Given the description of an element on the screen output the (x, y) to click on. 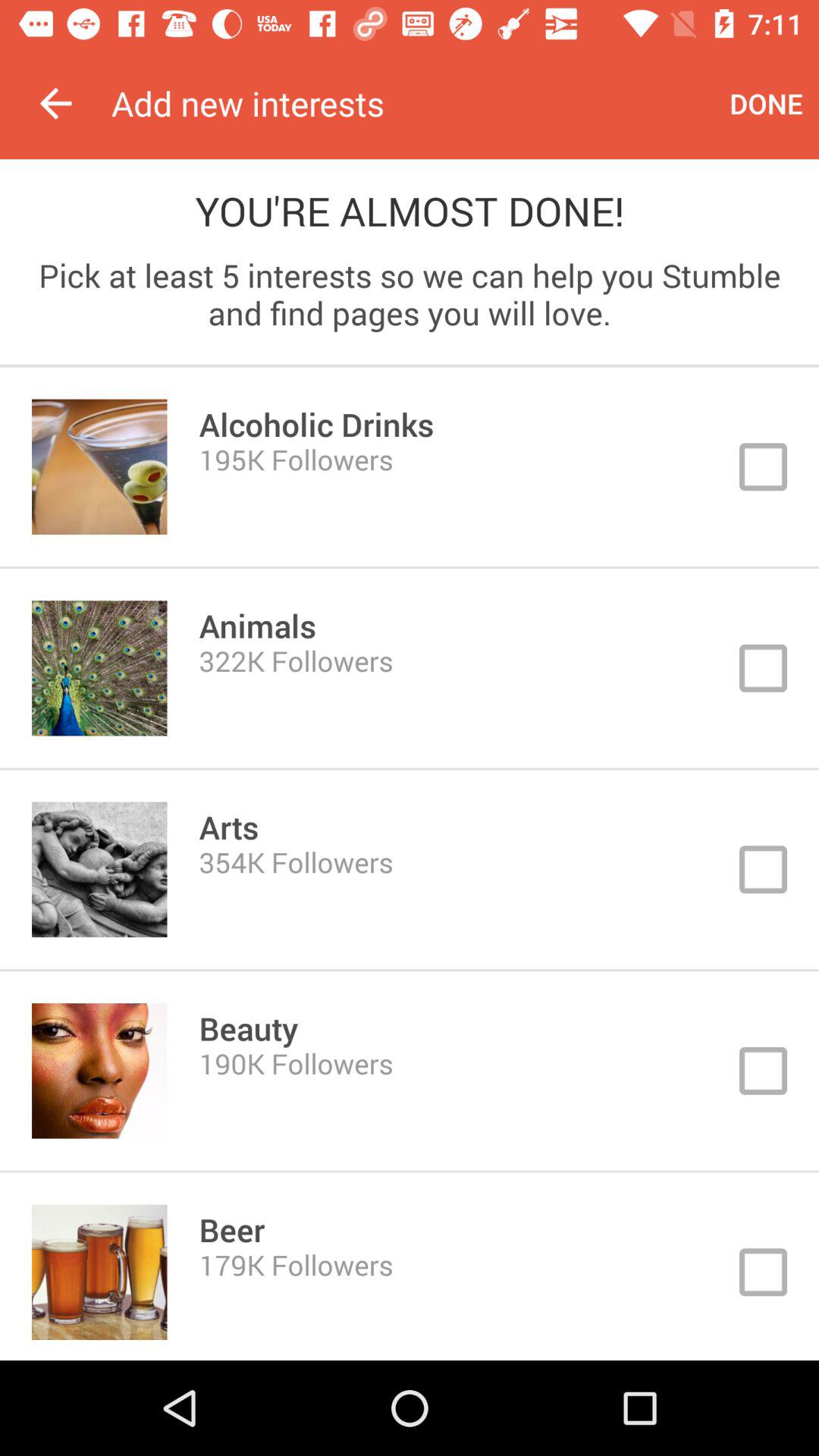
turn off the item above no data item (412, 103)
